Given the description of an element on the screen output the (x, y) to click on. 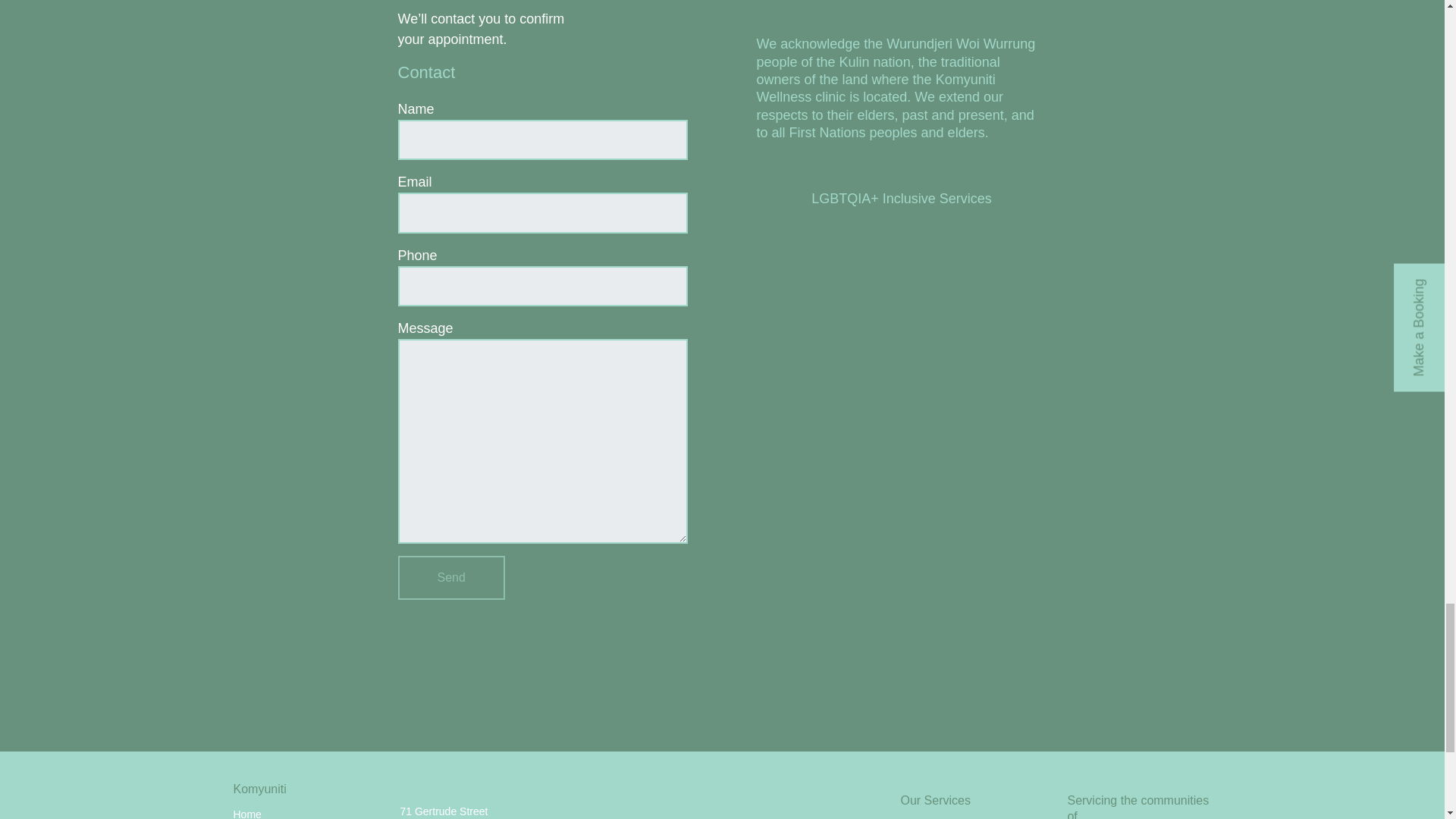
Home (247, 813)
Send (450, 577)
Send (450, 577)
